Given the description of an element on the screen output the (x, y) to click on. 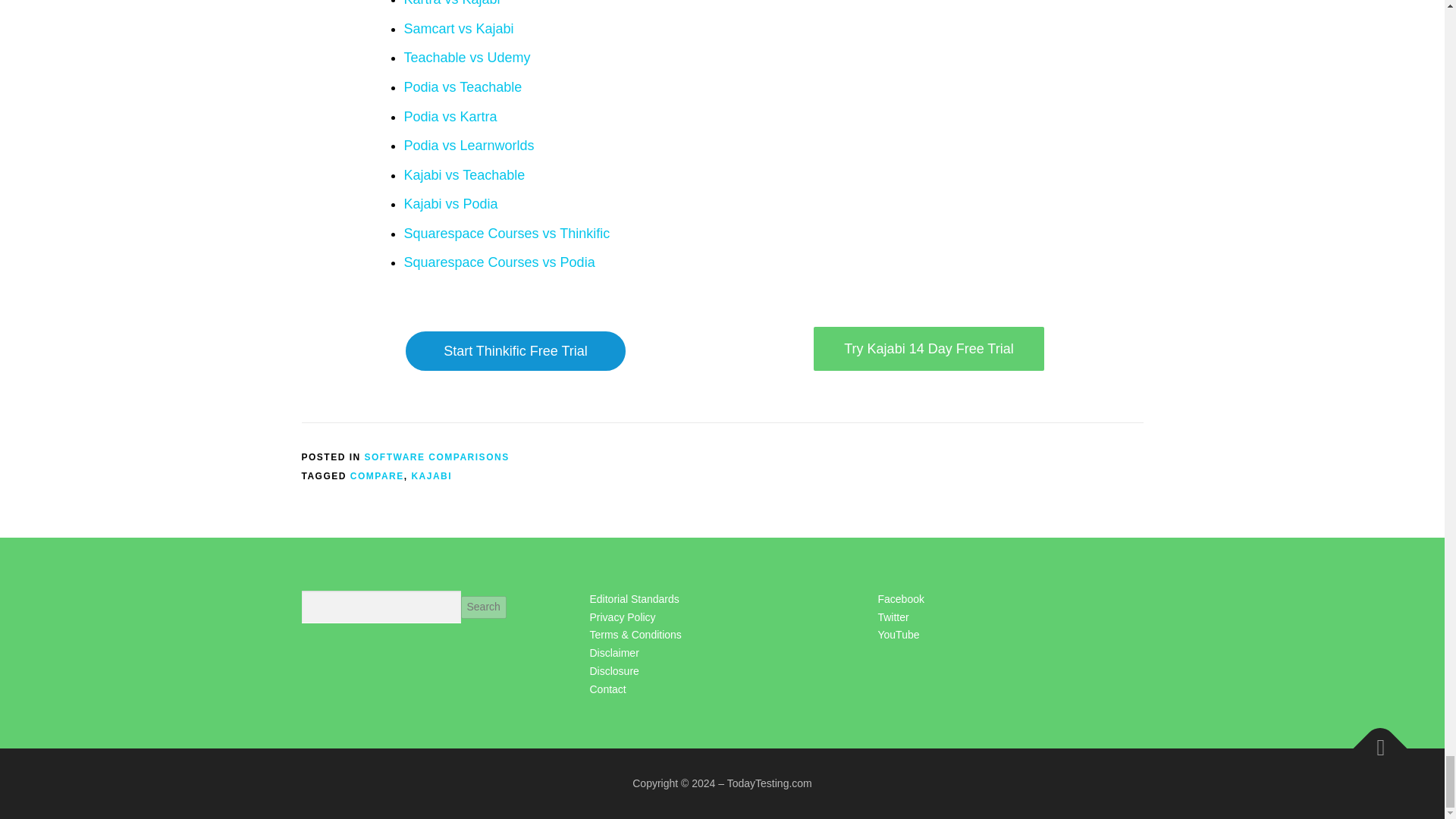
Back To Top (1372, 740)
